Given the description of an element on the screen output the (x, y) to click on. 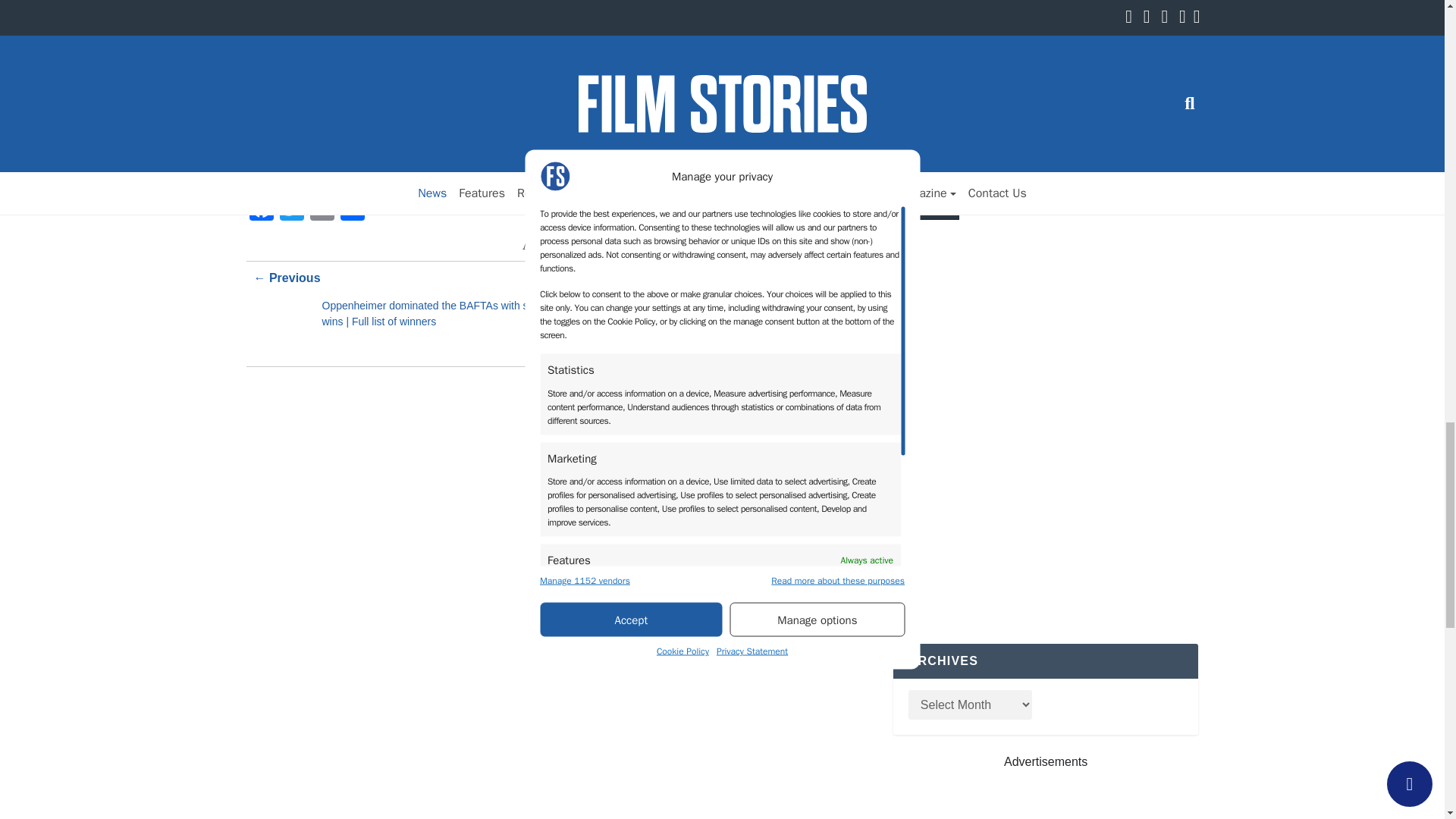
Twitter (290, 210)
Facebook (261, 210)
Subscribe (926, 208)
